Given the description of an element on the screen output the (x, y) to click on. 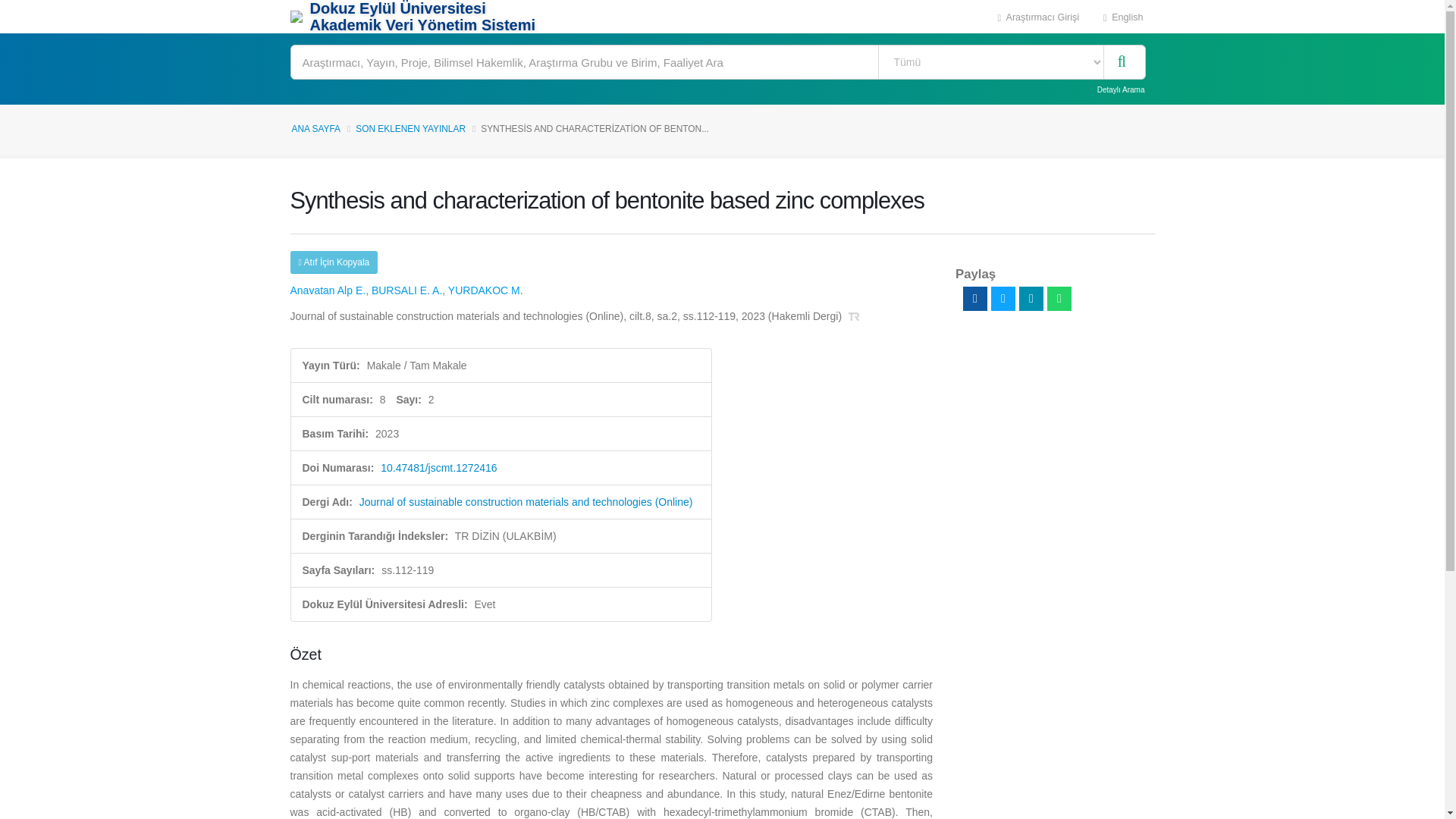
SON EKLENEN YAYINLAR (410, 128)
Ece Anavatan Alp (327, 290)
YURDAKOC M. (485, 290)
BURSALI E. A. (406, 290)
English (1123, 17)
ANA SAYFA (315, 128)
Anavatan Alp E. (327, 290)
